Given the description of an element on the screen output the (x, y) to click on. 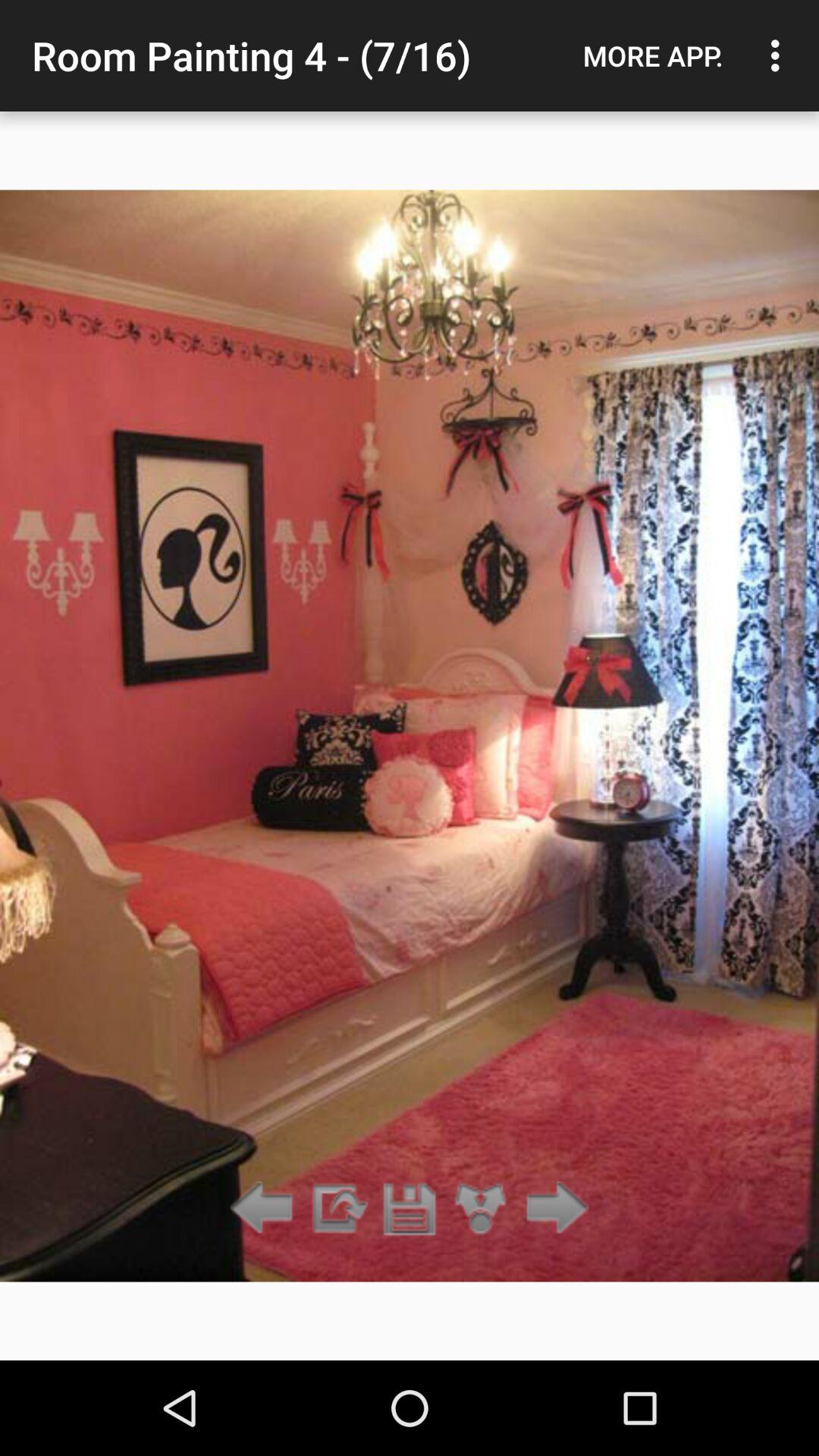
rotate clockwise (337, 1208)
